Given the description of an element on the screen output the (x, y) to click on. 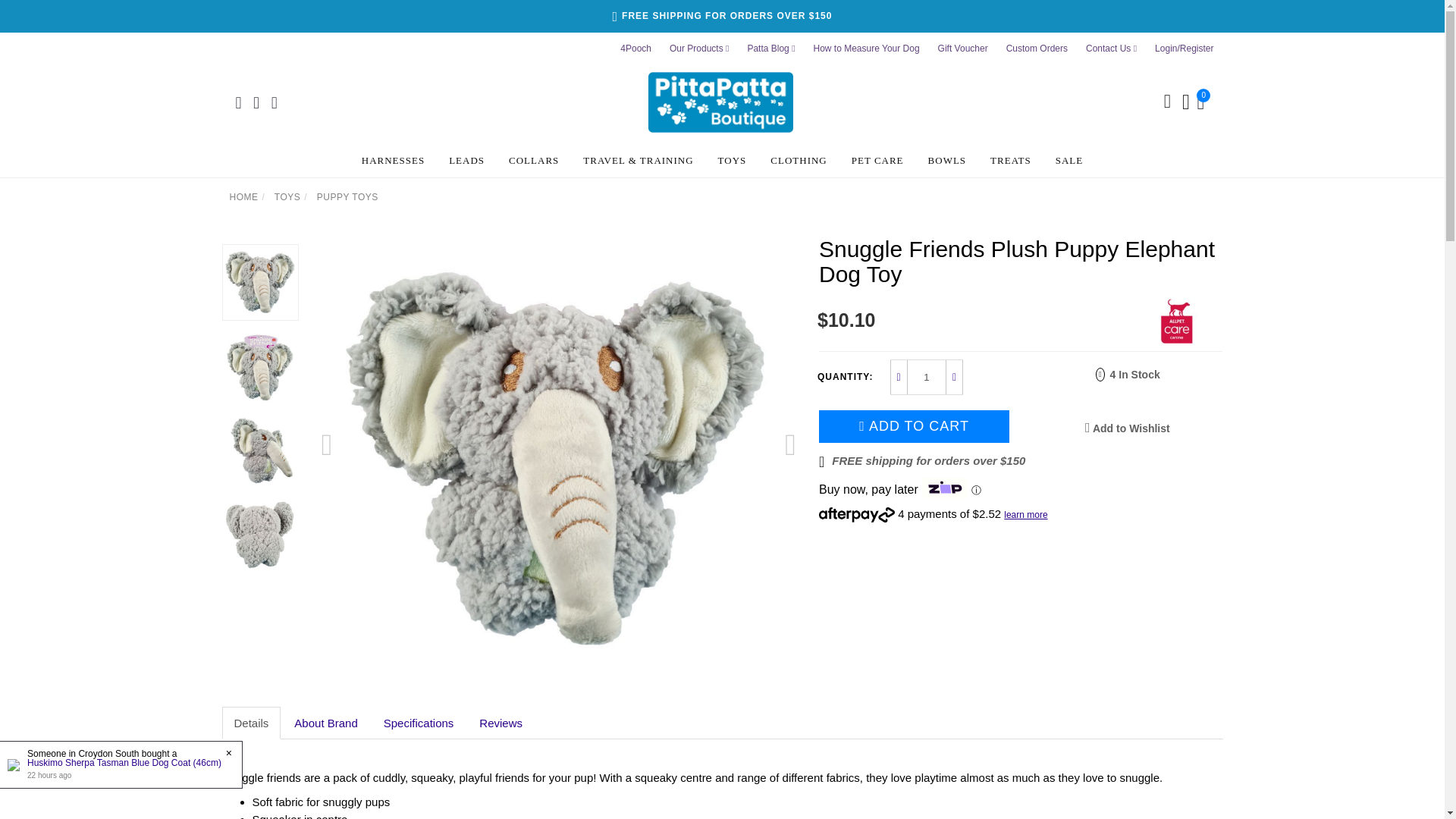
Our Products (699, 47)
4Pooch (636, 47)
Add Snuggle Friends Plush Puppy Elephant Dog Toy to Cart (913, 426)
Zip payment Information (974, 490)
Gift Voucher (962, 47)
Large View (260, 366)
How to Measure Your Dog (866, 47)
PittaPatta Boutique (719, 101)
Custom Orders (1037, 47)
Contact Us (1111, 47)
Large View (260, 449)
1 (926, 376)
Canine Care Australia (1177, 319)
Large View (260, 534)
